Given the description of an element on the screen output the (x, y) to click on. 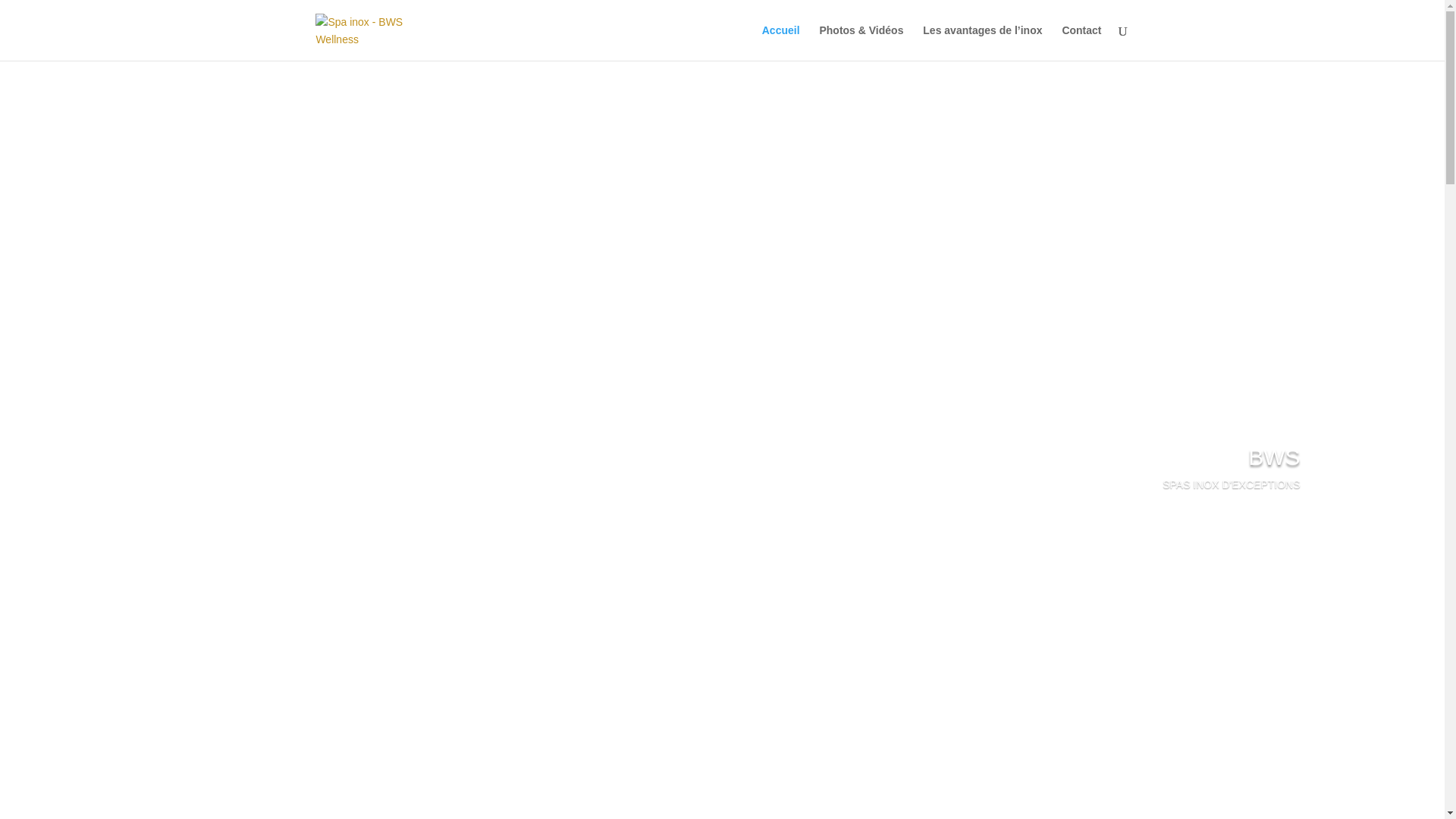
Accueil Element type: text (781, 42)
Contact Element type: text (1081, 42)
